Given the description of an element on the screen output the (x, y) to click on. 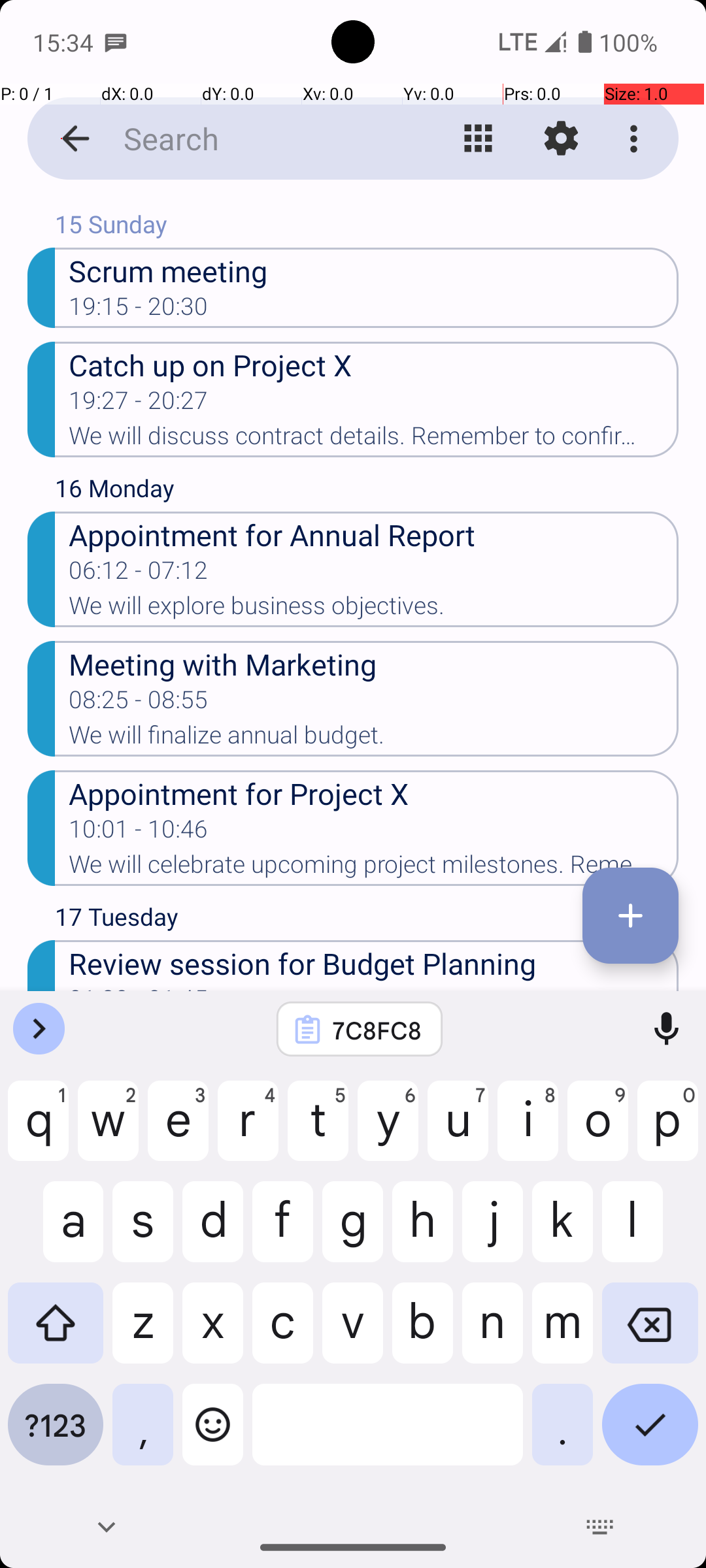
Scrum meeting Element type: android.widget.TextView (373, 269)
19:15 - 20:30 Element type: android.widget.TextView (137, 309)
19:27 - 20:27 Element type: android.widget.TextView (137, 404)
We will discuss contract details. Remember to confirm attendance. Element type: android.widget.TextView (373, 439)
06:12 - 07:12 Element type: android.widget.TextView (137, 573)
We will explore business objectives. Element type: android.widget.TextView (373, 609)
08:25 - 08:55 Element type: android.widget.TextView (137, 703)
We will finalize annual budget. Element type: android.widget.TextView (373, 738)
10:01 - 10:46 Element type: android.widget.TextView (137, 832)
We will celebrate upcoming project milestones. Remember to confirm attendance. Element type: android.widget.TextView (373, 867)
01:30 - 01:45 Element type: android.widget.TextView (137, 988)
7C8FC8 Element type: android.widget.TextView (376, 1029)
